Given the description of an element on the screen output the (x, y) to click on. 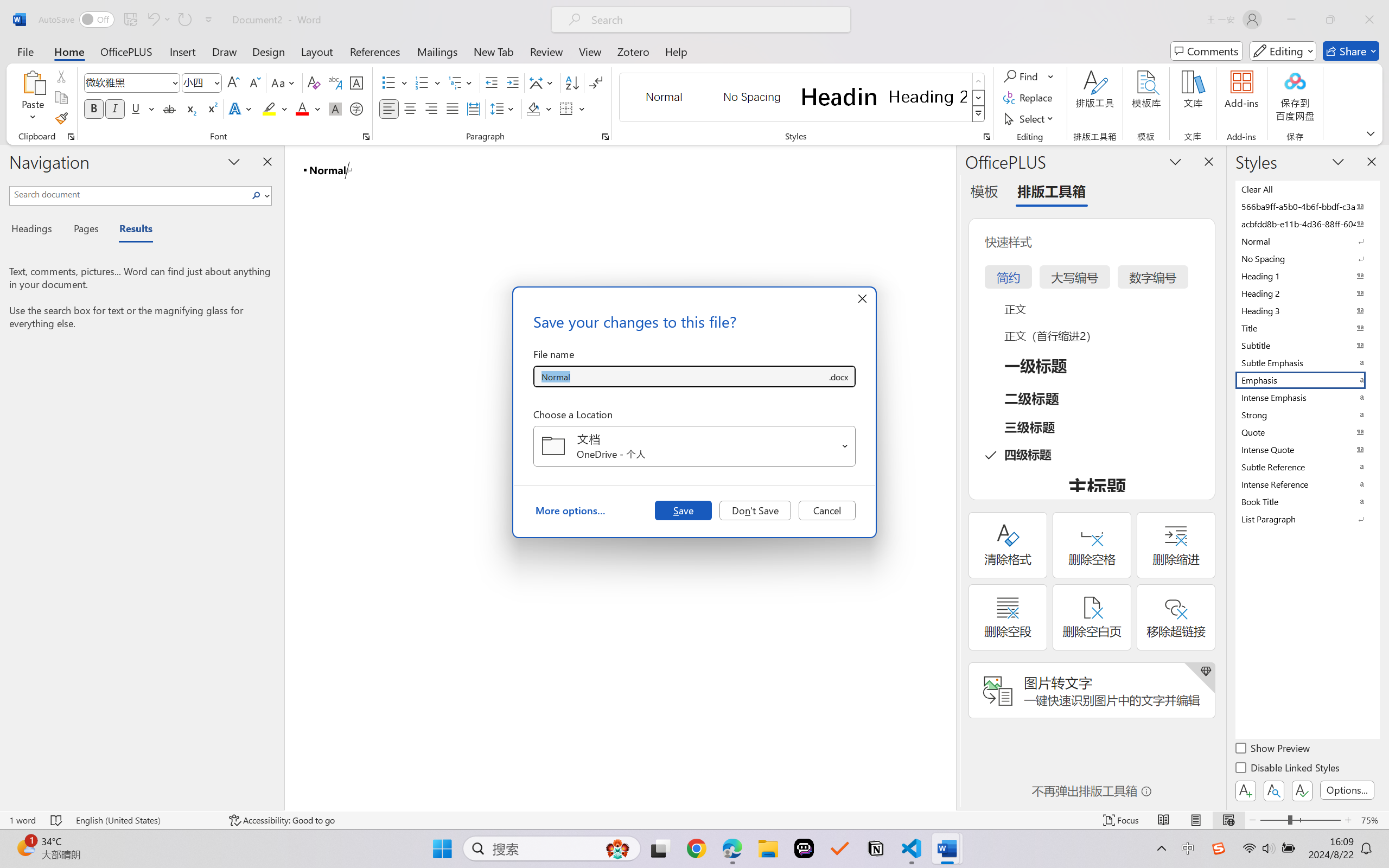
Bullets (388, 82)
Save (682, 509)
Character Border (356, 82)
Change Case (284, 82)
Shrink Font (253, 82)
Help (675, 51)
Headings (35, 229)
